Given the description of an element on the screen output the (x, y) to click on. 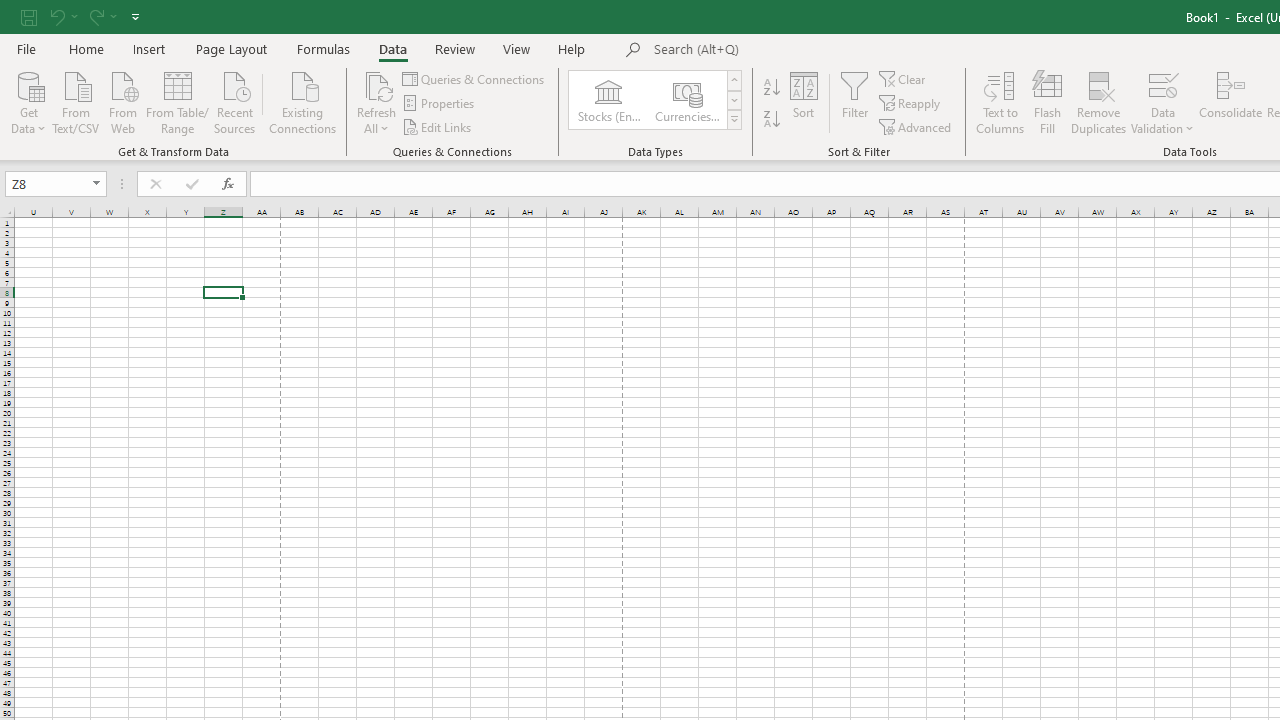
Properties (440, 103)
Clear (903, 78)
Advanced... (916, 126)
Currencies (English) (686, 100)
Existing Connections (303, 101)
